Given the description of an element on the screen output the (x, y) to click on. 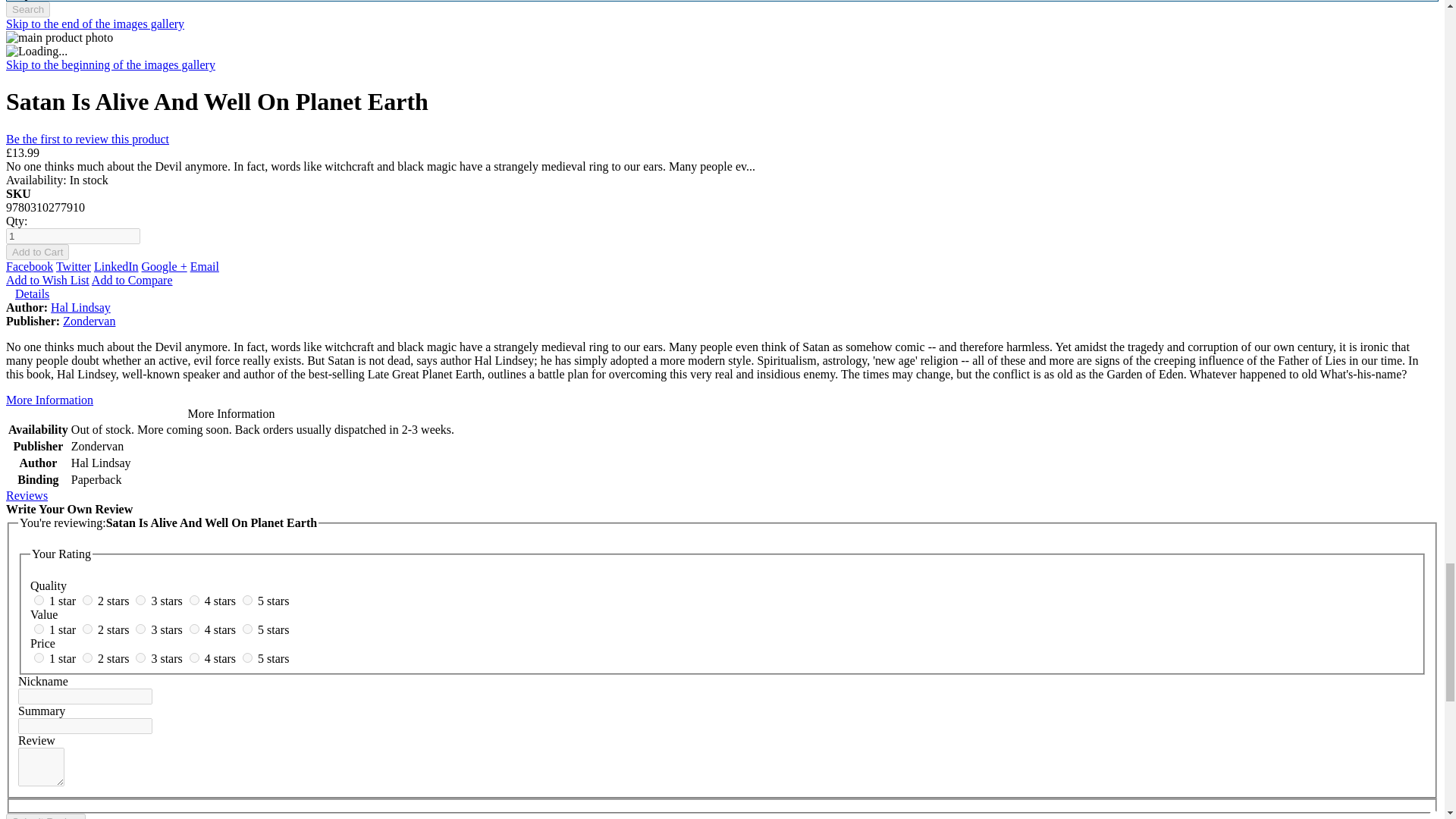
7 (87, 628)
4 (194, 600)
1 (38, 600)
8 (140, 628)
11 (38, 657)
10 (247, 628)
3 (140, 600)
6 (38, 628)
1 (72, 236)
9 (194, 628)
